Given the description of an element on the screen output the (x, y) to click on. 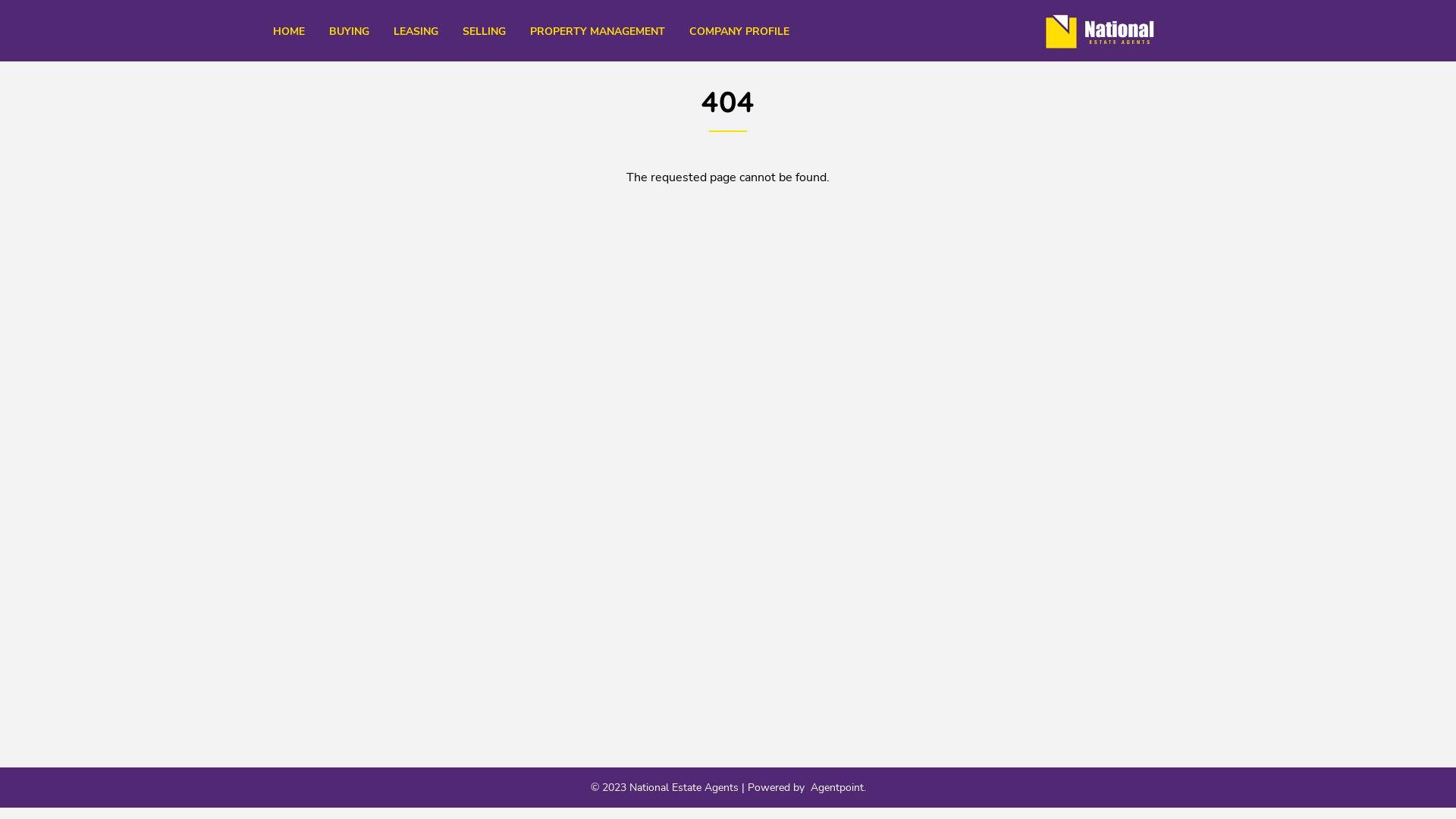
Agentpoint Element type: text (835, 787)
HOME Element type: text (288, 31)
COMPANY PROFILE Element type: text (739, 31)
PROPERTY MANAGEMENT Element type: text (597, 31)
LEASING Element type: text (415, 31)
SELLING Element type: text (483, 31)
BUYING Element type: text (349, 31)
